Given the description of an element on the screen output the (x, y) to click on. 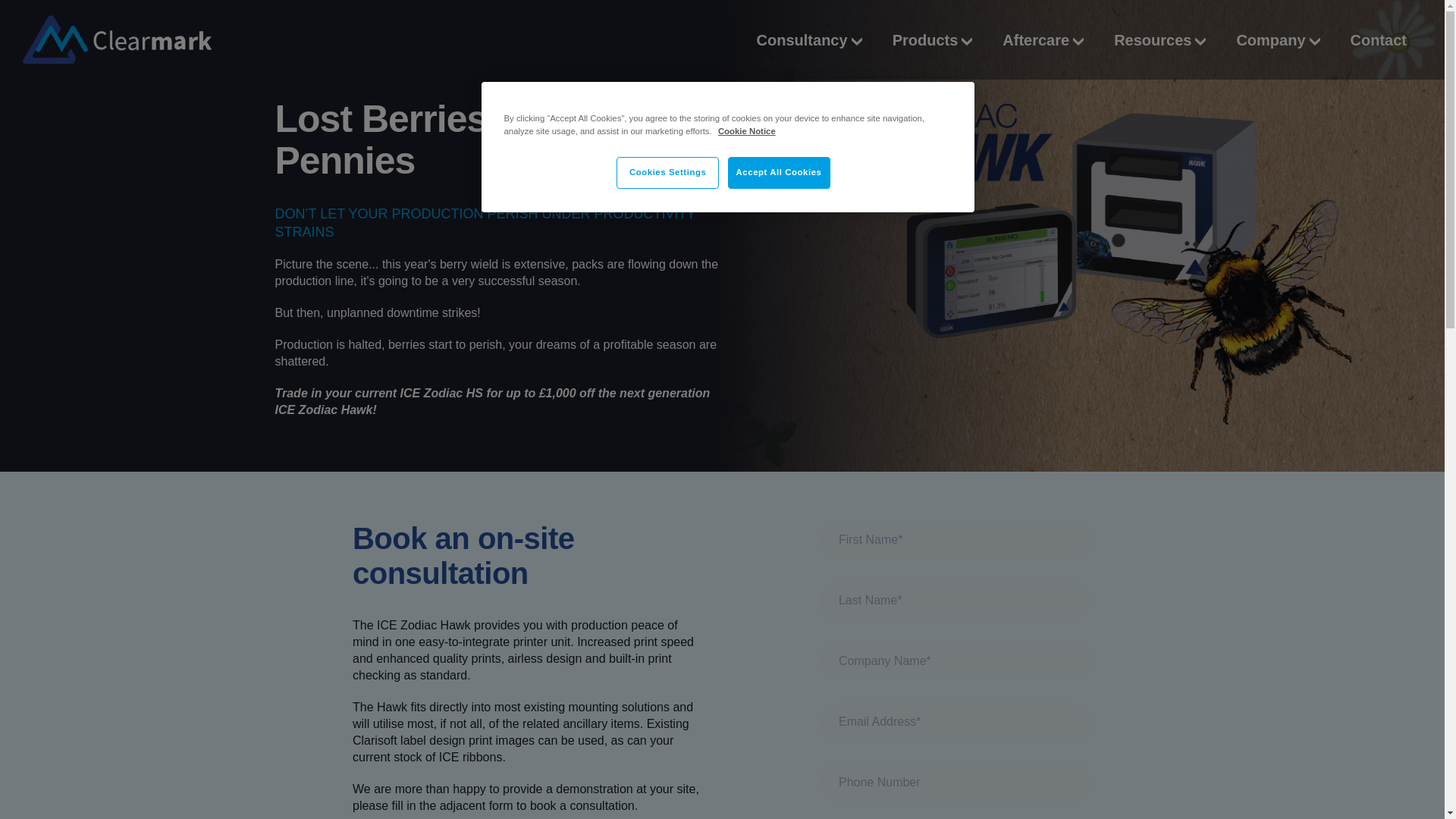
Consultancy (809, 39)
Aftercare (1043, 39)
Link back to home page (117, 39)
Contact (1378, 39)
Products (932, 39)
Resources (1159, 39)
Company (1277, 39)
